Given the description of an element on the screen output the (x, y) to click on. 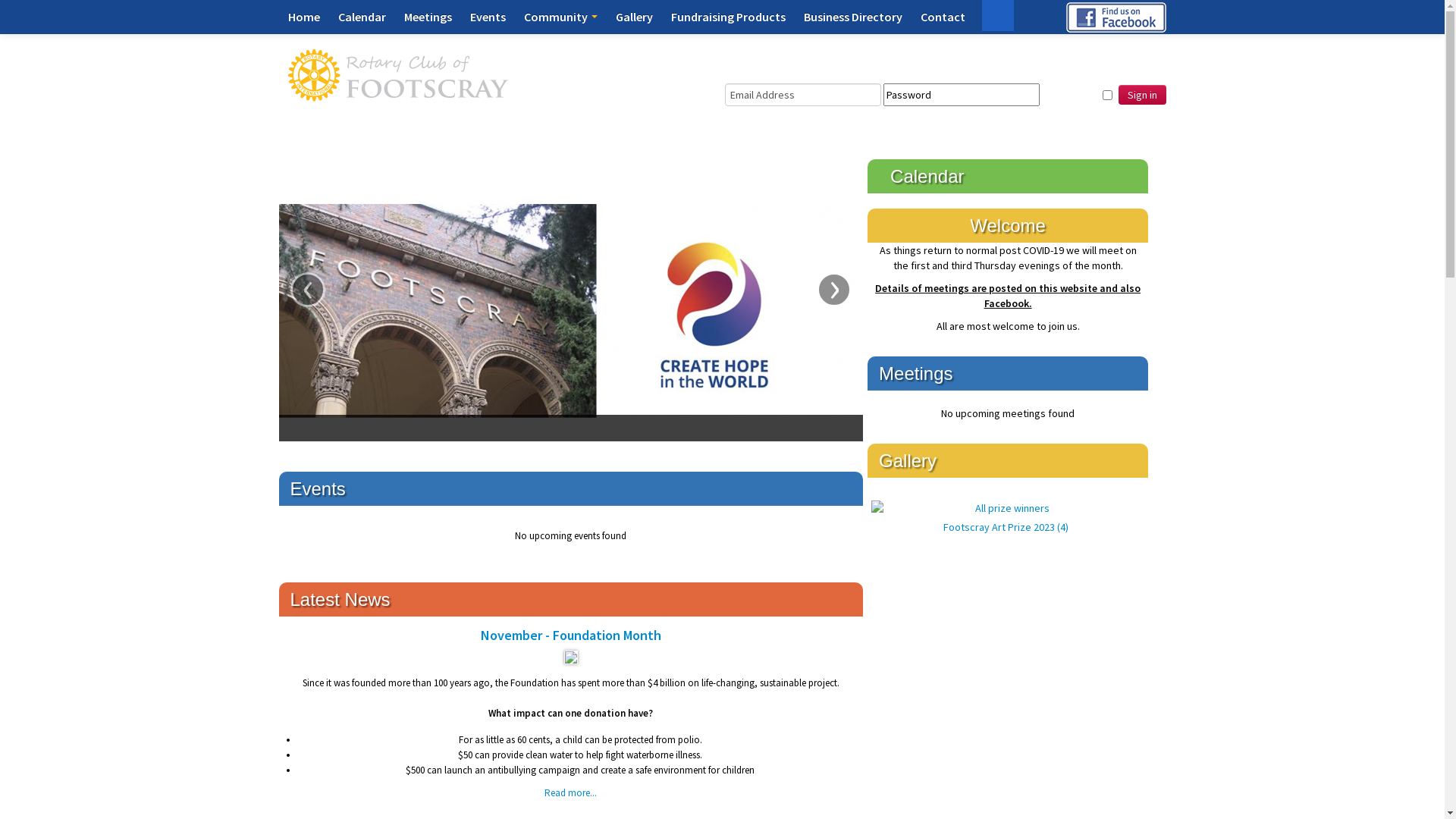
Meetings Element type: text (427, 16)
Home Element type: text (304, 16)
Fundraising Products Element type: text (727, 16)
November - Foundation Month Element type: hover (570, 659)
Calendar Element type: text (362, 16)
Contact Element type: text (942, 16)
Events Element type: text (317, 488)
Meetings Element type: text (915, 373)
Gallery Element type: text (634, 16)
Community Element type: text (559, 16)
Password Element type: text (961, 94)
Business Directory Element type: text (852, 16)
Read more... Element type: text (570, 792)
November - Foundation Month Element type: text (570, 634)
Sign in Element type: text (1141, 94)
Forgotten your password? Element type: text (792, 113)
Footscray Art Prize 2023 (4) Element type: text (1005, 517)
Calendar Element type: text (926, 176)
Events Element type: text (487, 16)
Gallery Element type: text (907, 460)
Latest News Element type: text (339, 599)
